Given the description of an element on the screen output the (x, y) to click on. 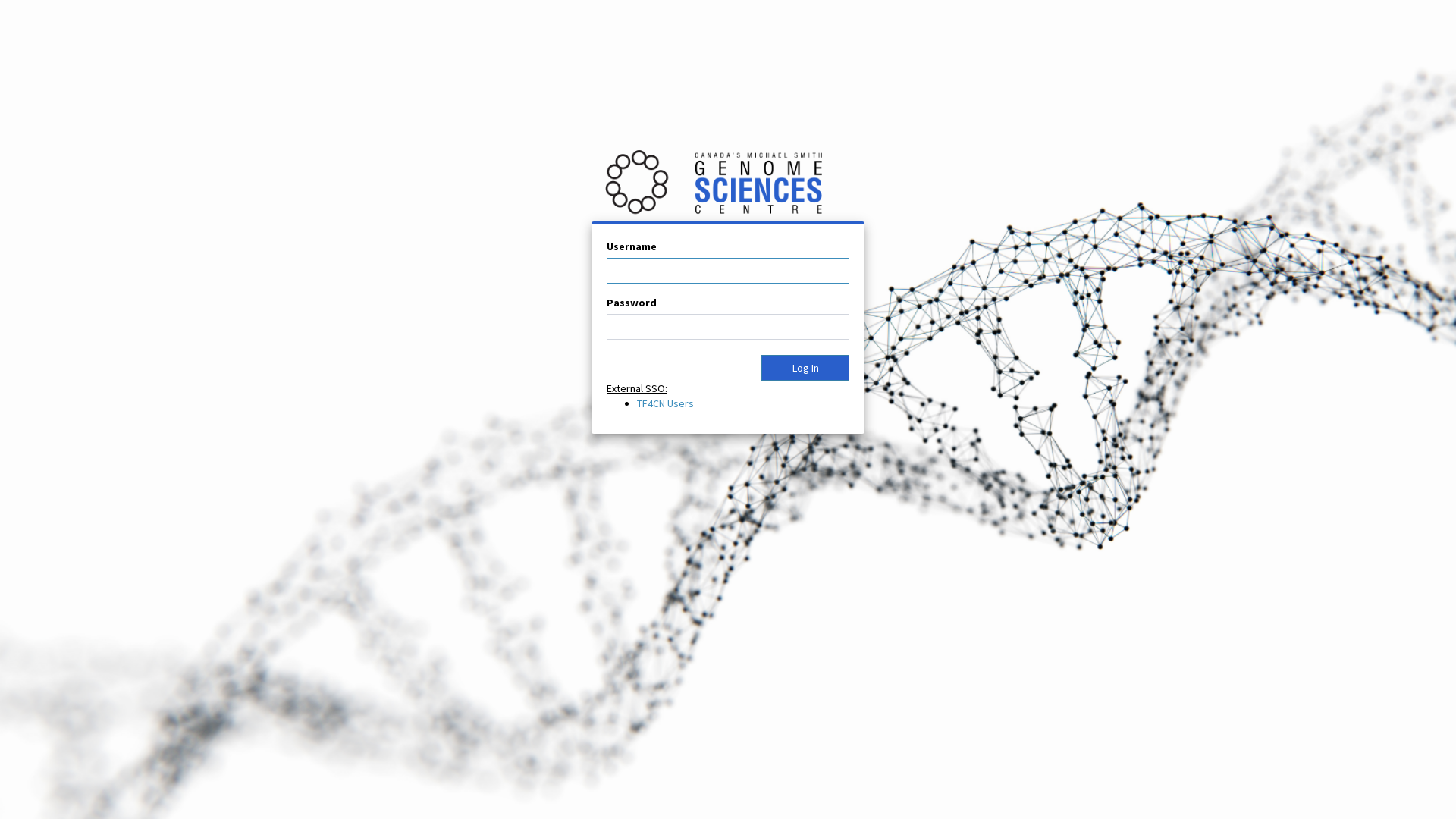
Log In Element type: text (805, 367)
TF4CN Users Element type: text (665, 403)
